Given the description of an element on the screen output the (x, y) to click on. 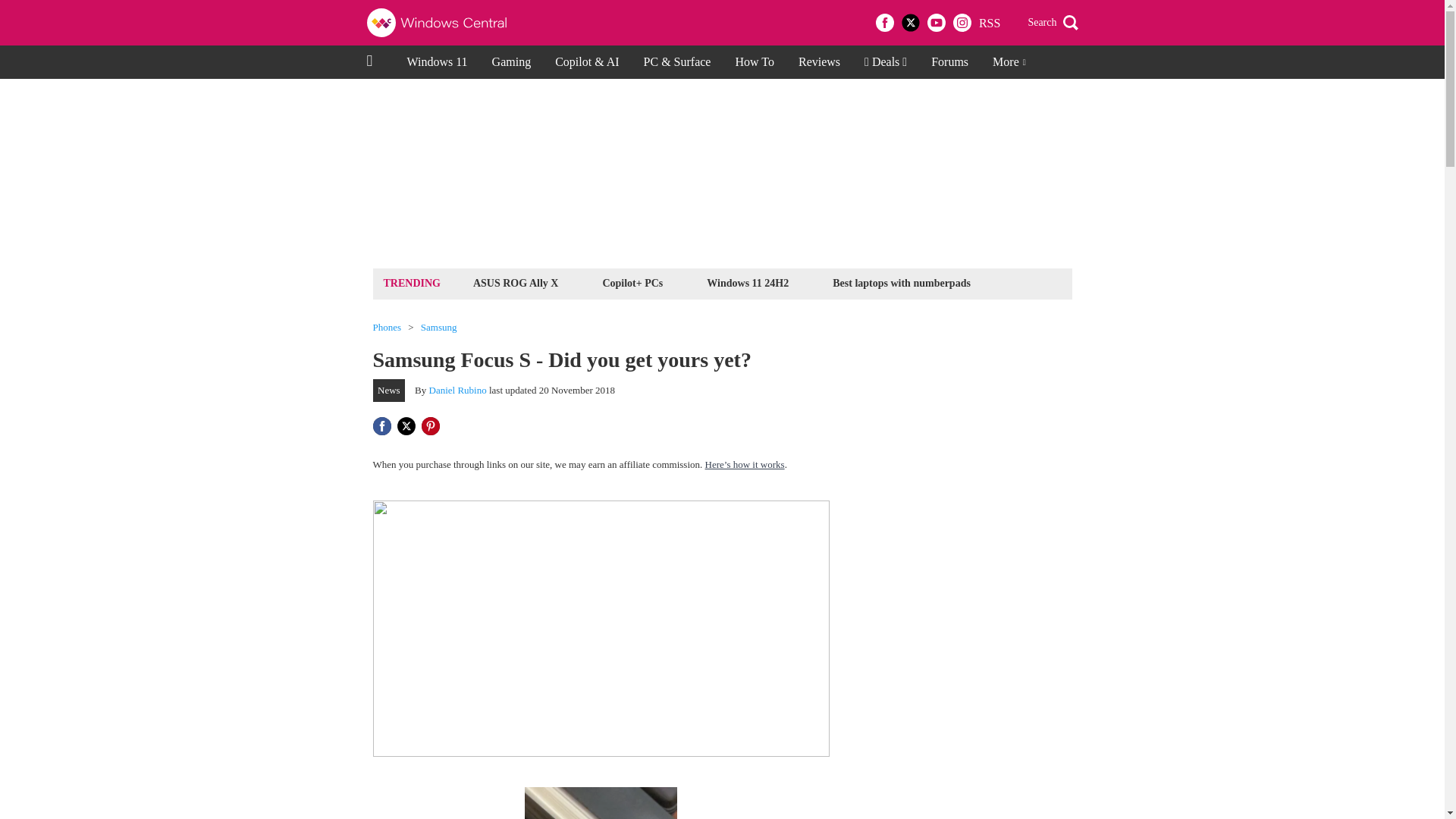
ASUS ROG Ally X (515, 282)
How To (754, 61)
News (389, 390)
Phones (386, 327)
Daniel Rubino (457, 389)
Reviews (818, 61)
Windows 11 (436, 61)
Gaming (511, 61)
Samsung (438, 327)
Best laptops with numberpads (901, 282)
